Given the description of an element on the screen output the (x, y) to click on. 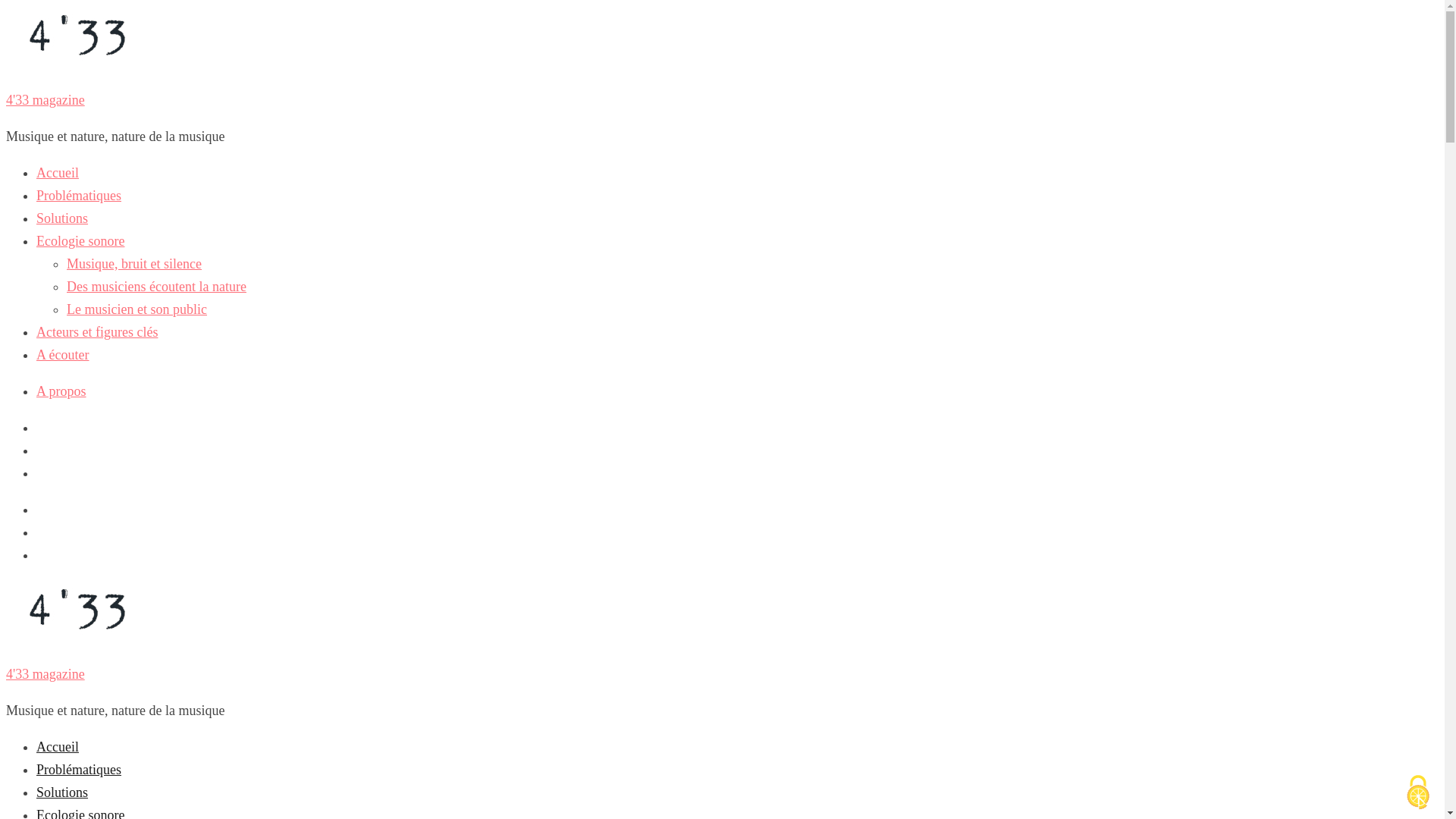
4'33 magazine Element type: text (45, 673)
Le musicien et son public Element type: text (136, 308)
A propos Element type: text (61, 390)
Solutions Element type: text (61, 792)
4'33 magazine Element type: text (45, 99)
Accueil Element type: text (57, 172)
Musique, bruit et silence Element type: text (133, 263)
Solutions Element type: text (61, 217)
Accueil Element type: text (57, 747)
Ecologie sonore Element type: text (80, 240)
